Given the description of an element on the screen output the (x, y) to click on. 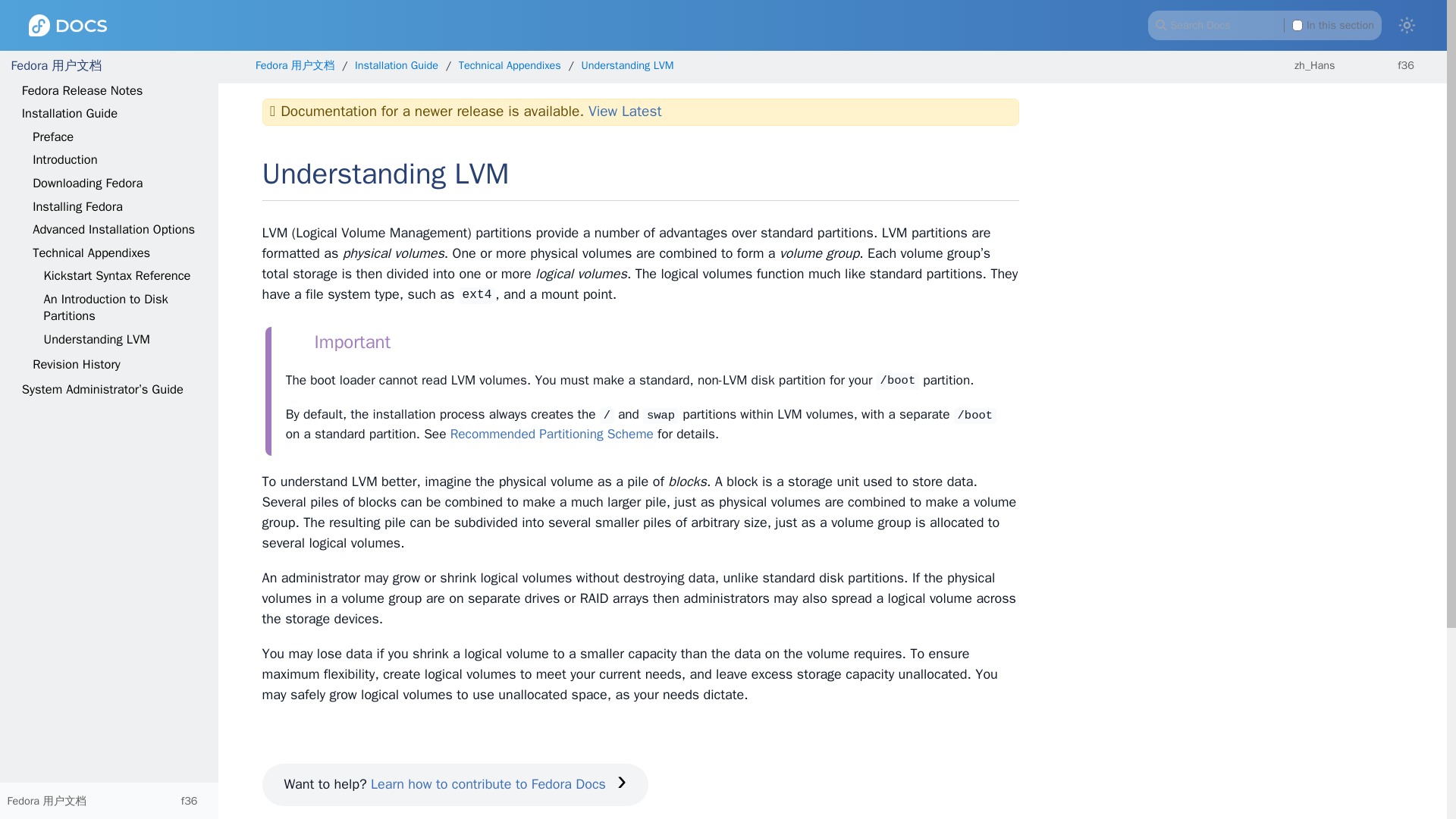
Introduction (64, 159)
Important (336, 342)
Installation Guide (69, 113)
Show other versions of page (1413, 65)
Show other languages of the site (1320, 65)
on (1297, 24)
Loading index... (1264, 24)
Fedora Release Notes (81, 90)
Preface (53, 136)
